Given the description of an element on the screen output the (x, y) to click on. 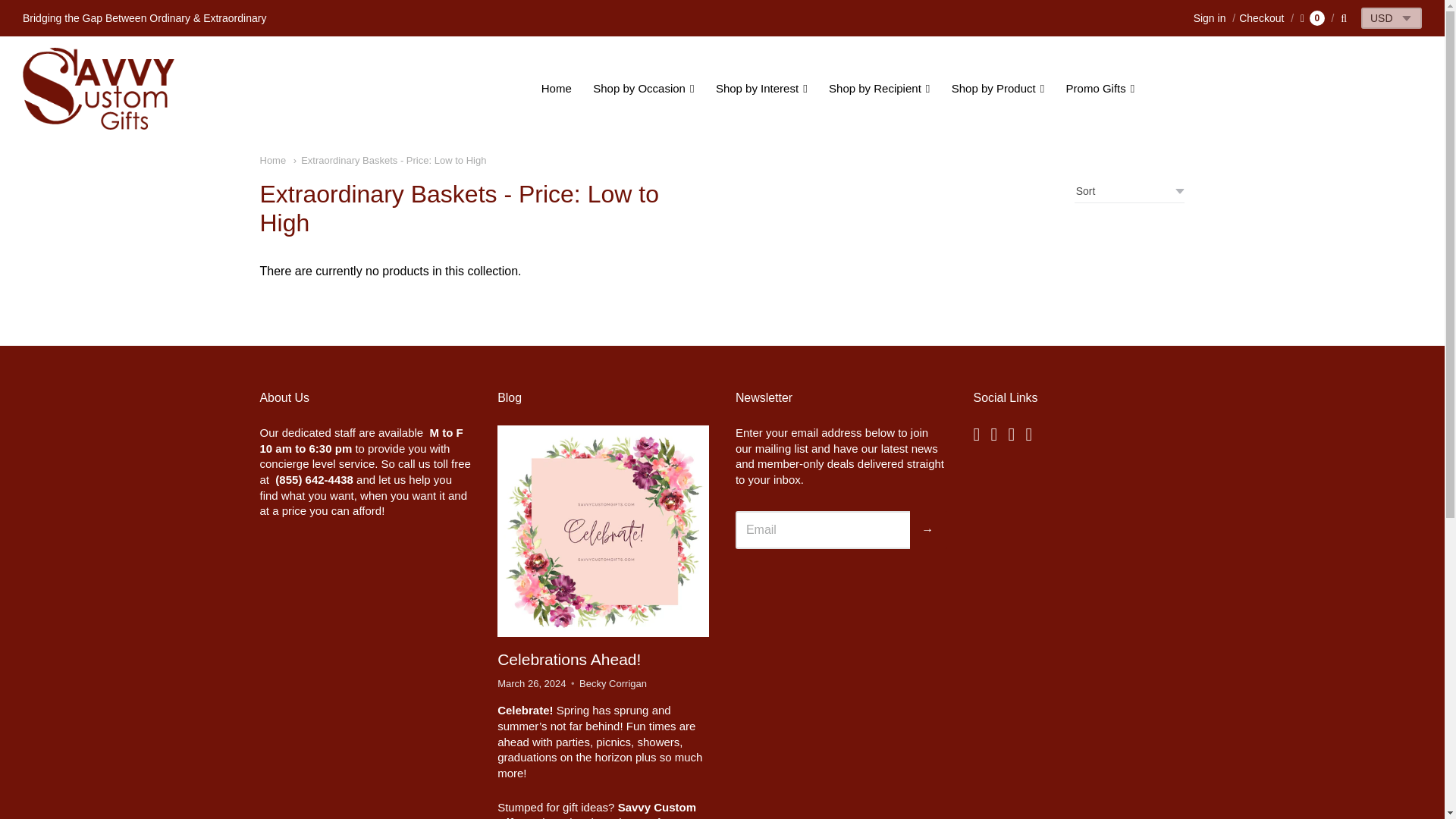
Sign in (1209, 18)
0 (1312, 18)
Celebrations Ahead! (603, 531)
Savvy Custom Gifts (98, 88)
Home (272, 160)
Checkout (1256, 18)
Extraordinary Baskets - Price: Low to High (390, 160)
Shop by Occasion (643, 88)
Home (556, 88)
